Given the description of an element on the screen output the (x, y) to click on. 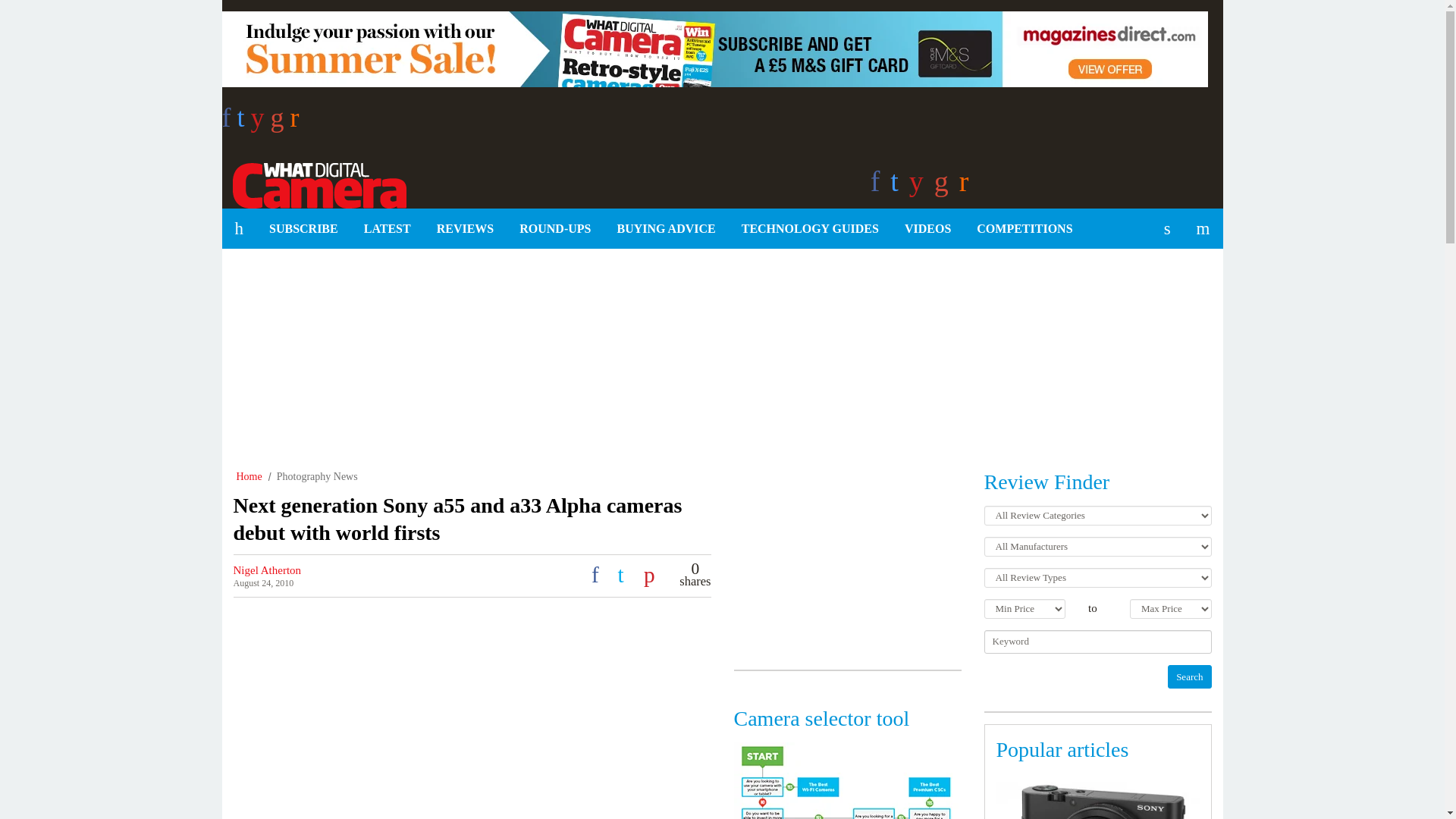
ROUND-UPS (555, 228)
What Digital Camera (313, 182)
t (242, 122)
REVIEWS (464, 228)
BUYING ADVICE (666, 228)
y (260, 122)
Search (1189, 677)
SUBSCRIBE (303, 228)
What Digital Camera (313, 182)
LATEST (386, 228)
f (228, 122)
g (279, 122)
Nigel Atherton's Profile (266, 570)
